Given the description of an element on the screen output the (x, y) to click on. 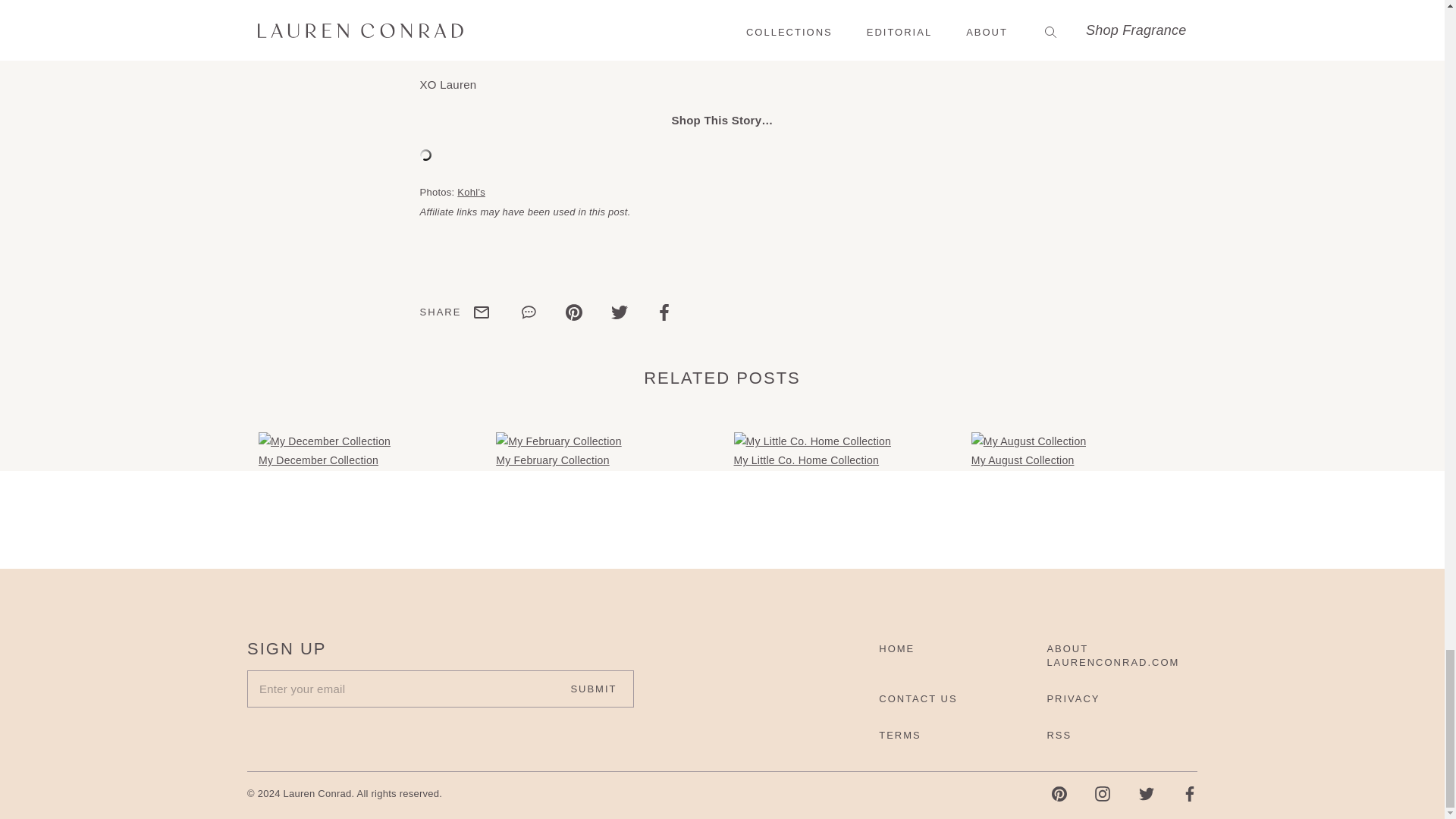
My February Collection (558, 441)
My December Collection (324, 441)
My August Collection (1028, 441)
My Little Co. Home Collection (812, 441)
